Given the description of an element on the screen output the (x, y) to click on. 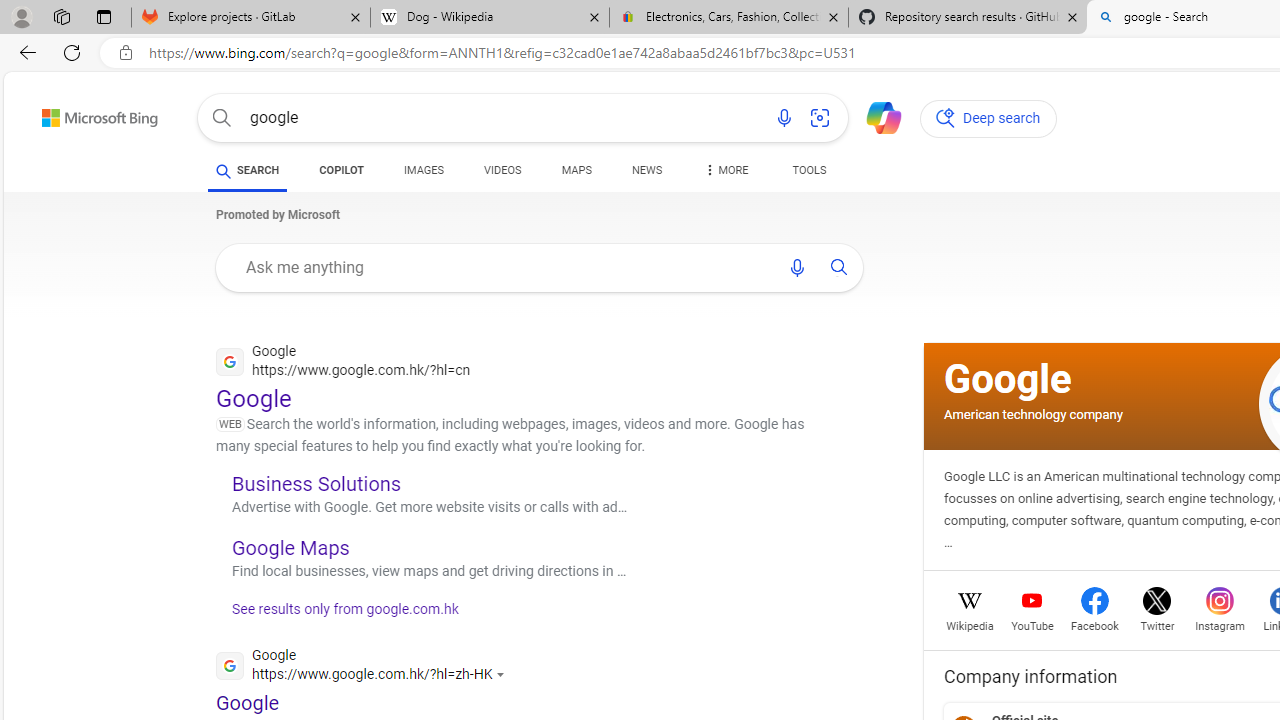
Facebook (1094, 624)
Dog - Wikipedia (490, 17)
COPILOT (341, 173)
Google (1008, 378)
TOOLS (808, 173)
Search button (221, 117)
TOOLS (808, 170)
